Given the description of an element on the screen output the (x, y) to click on. 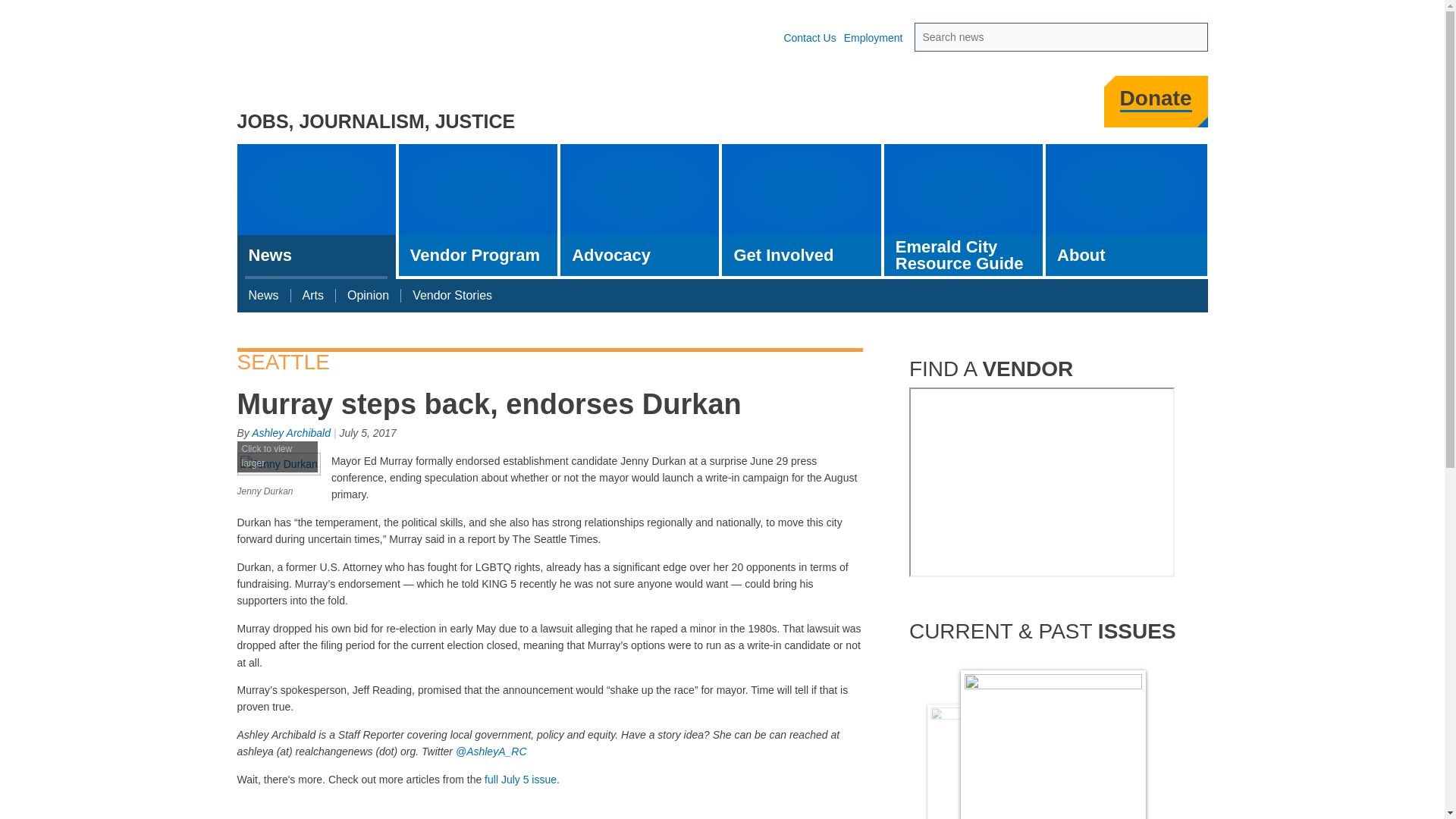
full July 5 issue (277, 475)
Vendor Program (520, 779)
News (477, 210)
Ashley Archibald (262, 295)
Advocacy (290, 432)
About (639, 210)
YouTube (1126, 210)
News (991, 105)
Vendor Stories (314, 211)
